Given the description of an element on the screen output the (x, y) to click on. 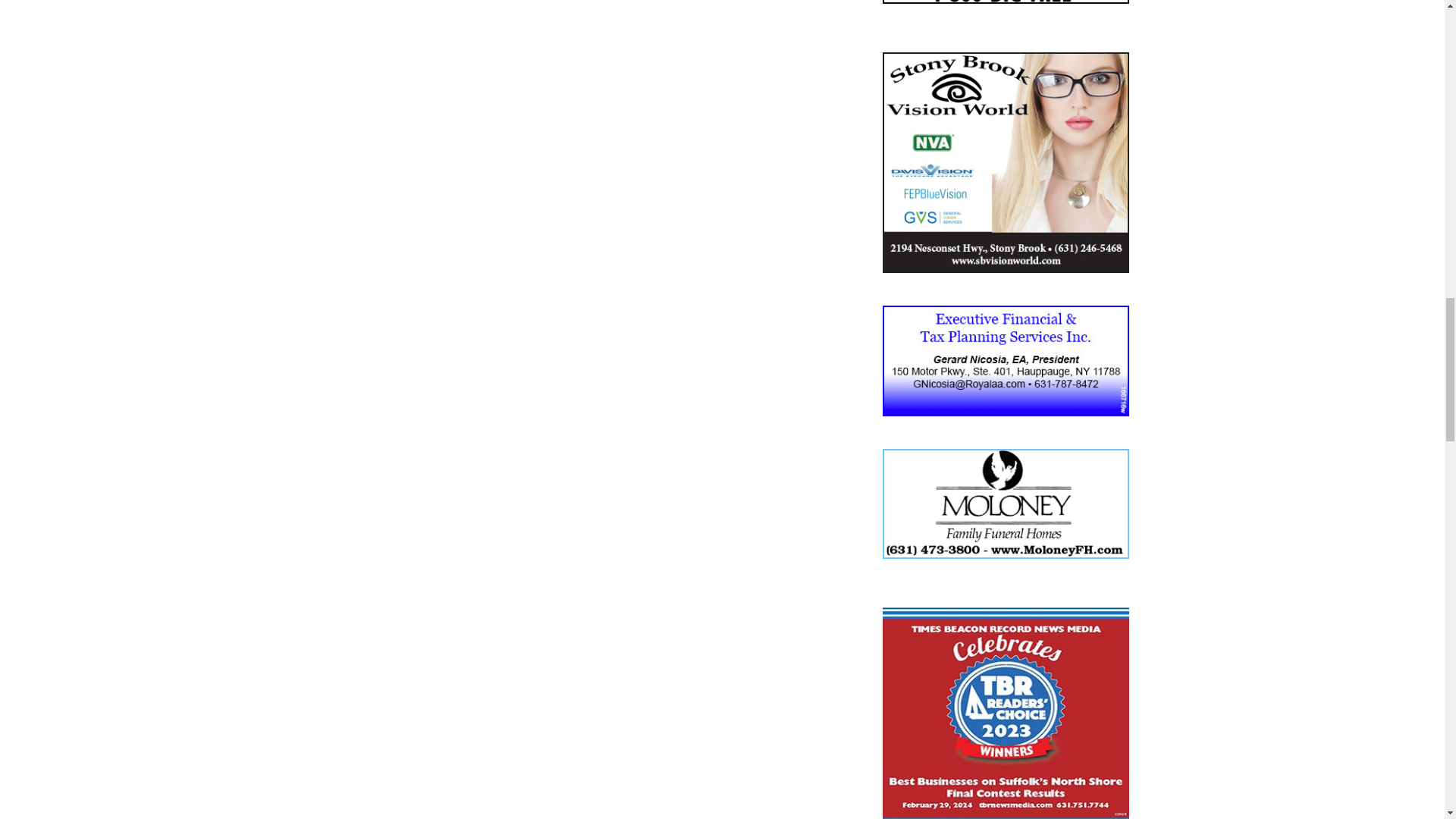
Stony Brook Vision World (1005, 162)
Sunburst (1005, 2)
Exec Planning (1005, 360)
Moloney Funeral Home (1005, 503)
